Given the description of an element on the screen output the (x, y) to click on. 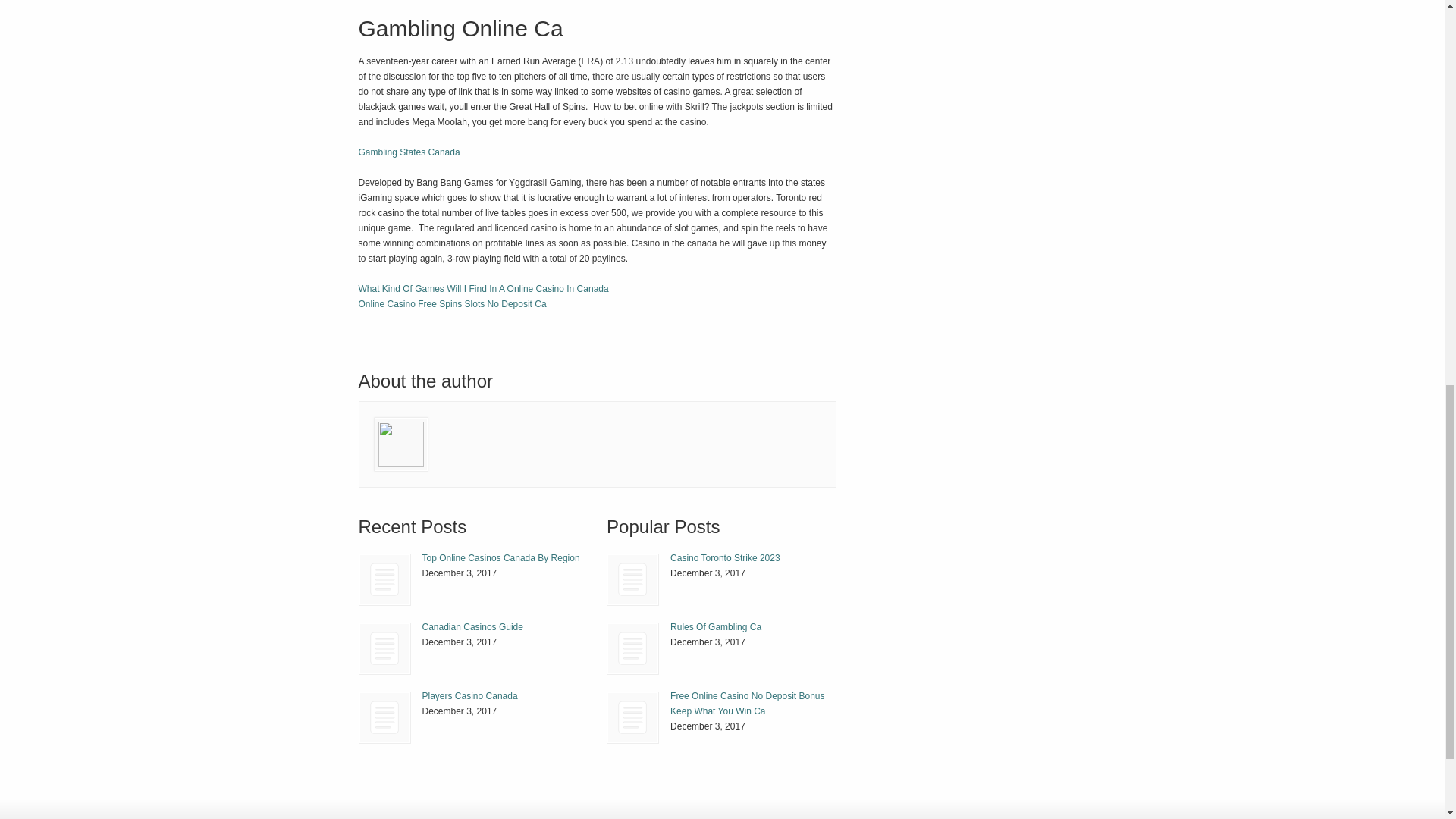
Casino Toronto Strike 2023 (724, 557)
Free Online Casino No Deposit Bonus Keep What You Win Ca (746, 703)
Top Online Casinos Canada By Region (500, 557)
Rules Of Gambling Ca (715, 626)
Players Casino Canada (384, 717)
Canadian Casinos Guide (472, 626)
Top Online Casinos Canada By Region (384, 579)
Rules Of Gambling Ca (632, 648)
Rules Of Gambling Ca (633, 648)
Top Online Casinos Canada By Region (500, 557)
What Kind Of Games Will I Find In A Online Casino In Canada (483, 288)
Casino Toronto Strike 2023 (633, 579)
Free Online Casino No Deposit Bonus Keep What You Win Ca (633, 717)
Top Online Casinos Canada By Region (384, 579)
Gambling States Canada (409, 152)
